Given the description of an element on the screen output the (x, y) to click on. 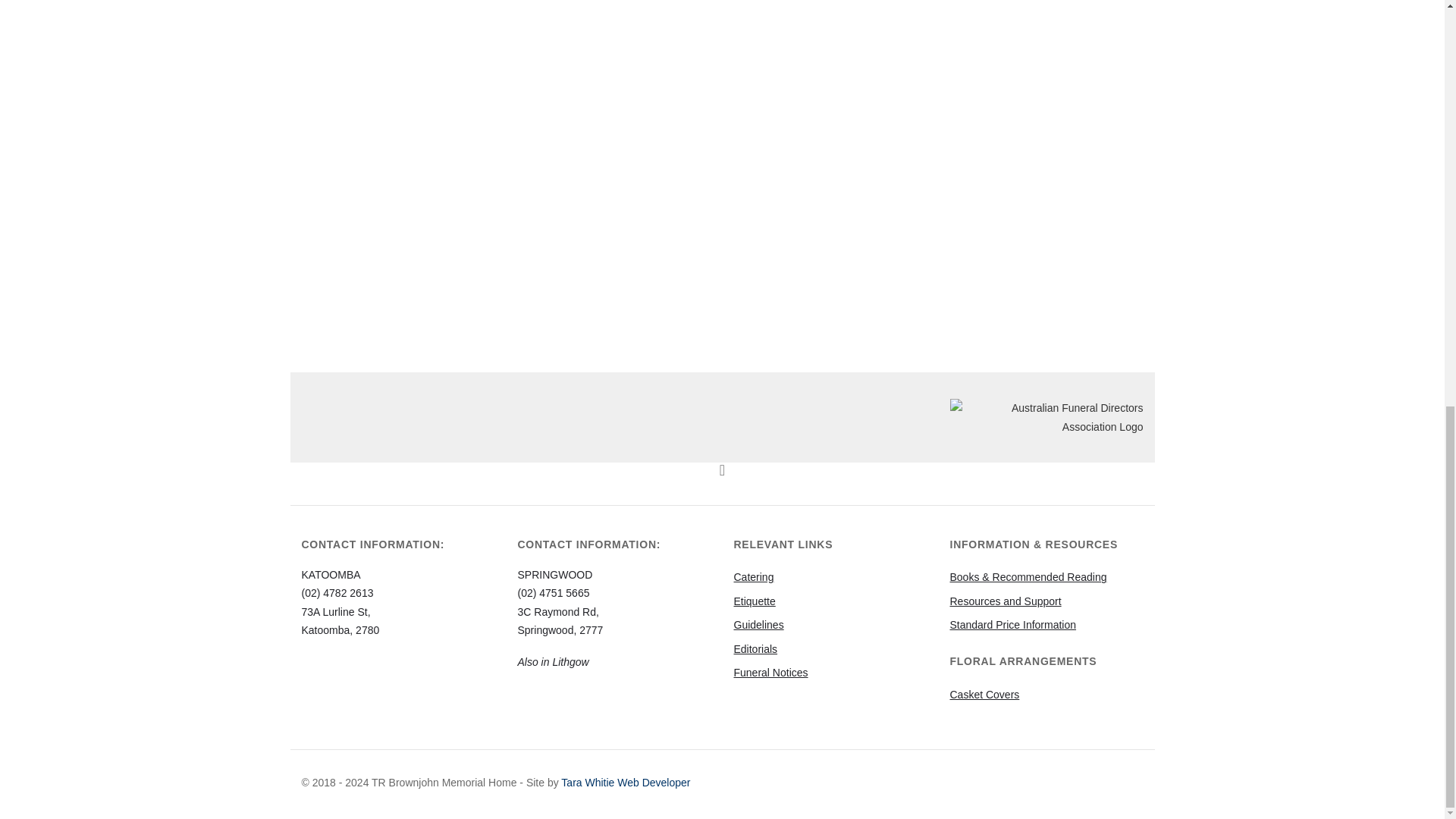
Guidelines (758, 624)
Editorials (755, 648)
Resources and Support (1005, 601)
Etiquette (754, 601)
Funeral Notices (770, 672)
Catering (753, 576)
